Given the description of an element on the screen output the (x, y) to click on. 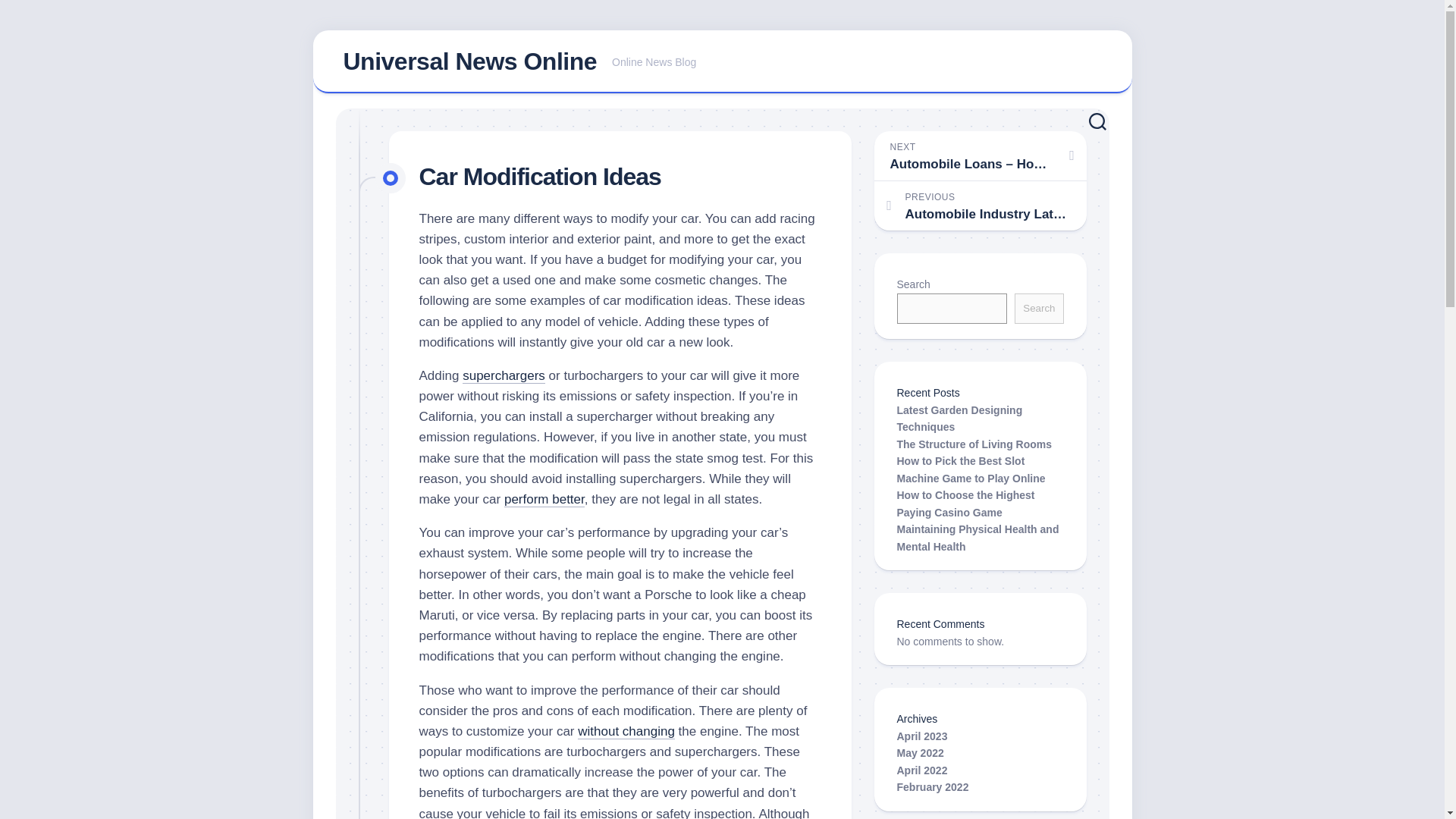
May 2022 (919, 752)
superchargers (503, 375)
February 2022 (722, 62)
Maintaining Physical Health and Mental Health (932, 787)
April 2023 (977, 537)
Universal News Online (921, 735)
The Structure of Living Rooms (469, 61)
How to Choose the Highest Paying Casino Game (973, 444)
Search (964, 503)
April 2022 (1038, 307)
perform better (921, 770)
without changing (979, 205)
Skip to content (544, 499)
